Given the description of an element on the screen output the (x, y) to click on. 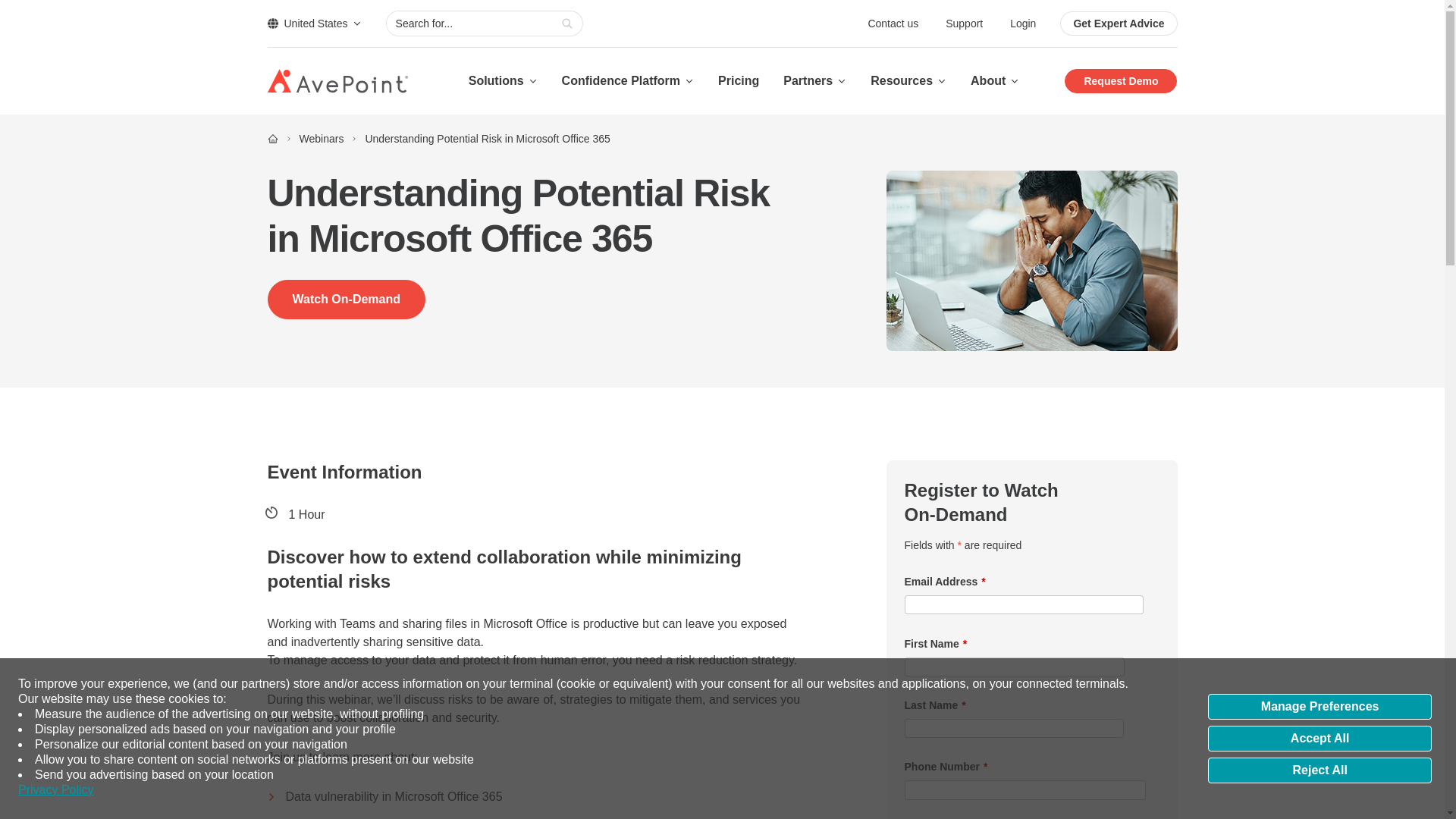
Manage Preferences (1319, 706)
Confidence Platform (628, 80)
Search (566, 23)
Contact us (894, 23)
Get Expert Advice (1117, 23)
Support (964, 23)
Login (1022, 23)
Solutions (502, 80)
United States (313, 23)
Reject All (1319, 769)
Privacy Policy (55, 789)
Accept All (1319, 738)
